Given the description of an element on the screen output the (x, y) to click on. 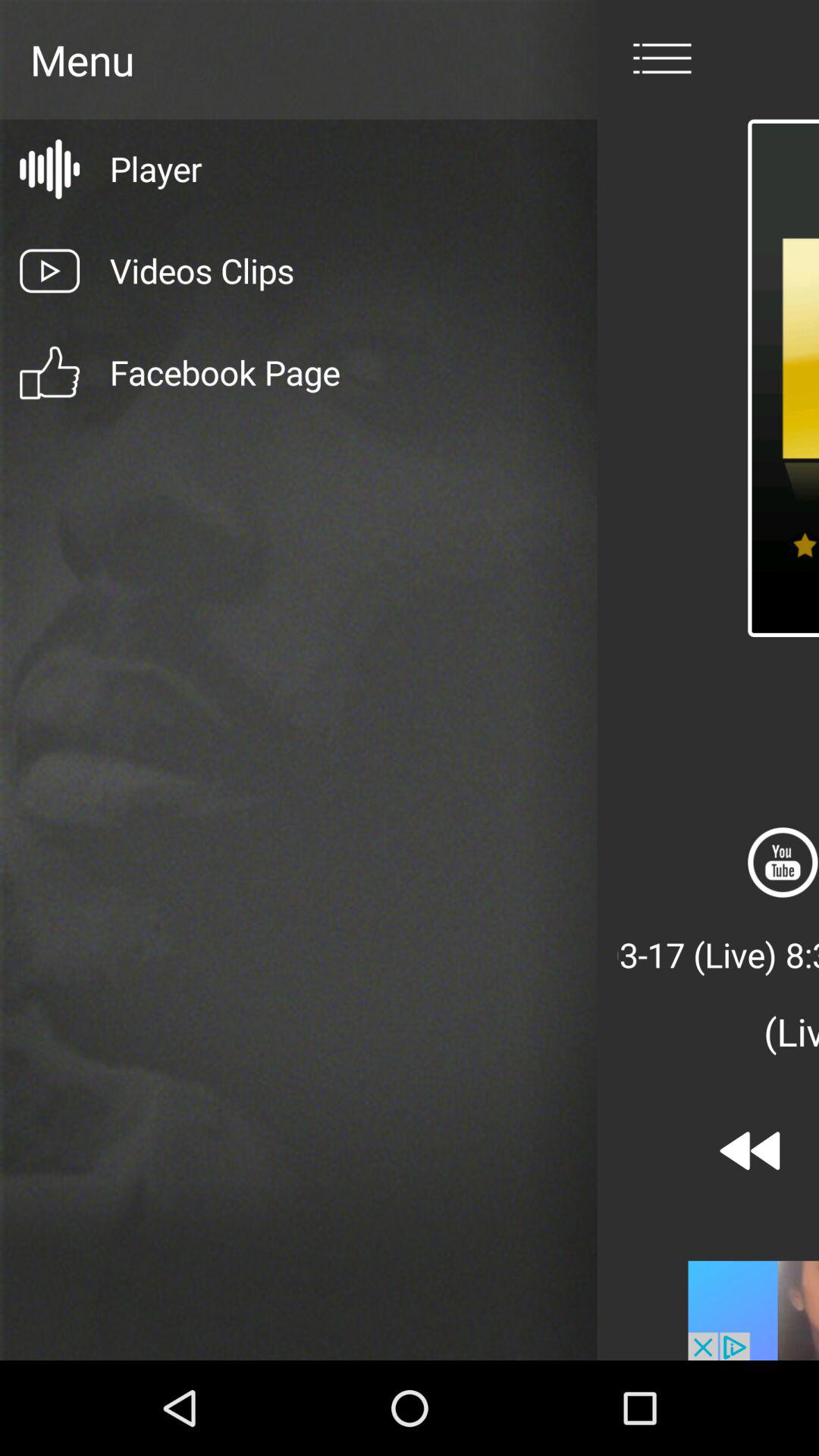
go to youtube (782, 862)
